Given the description of an element on the screen output the (x, y) to click on. 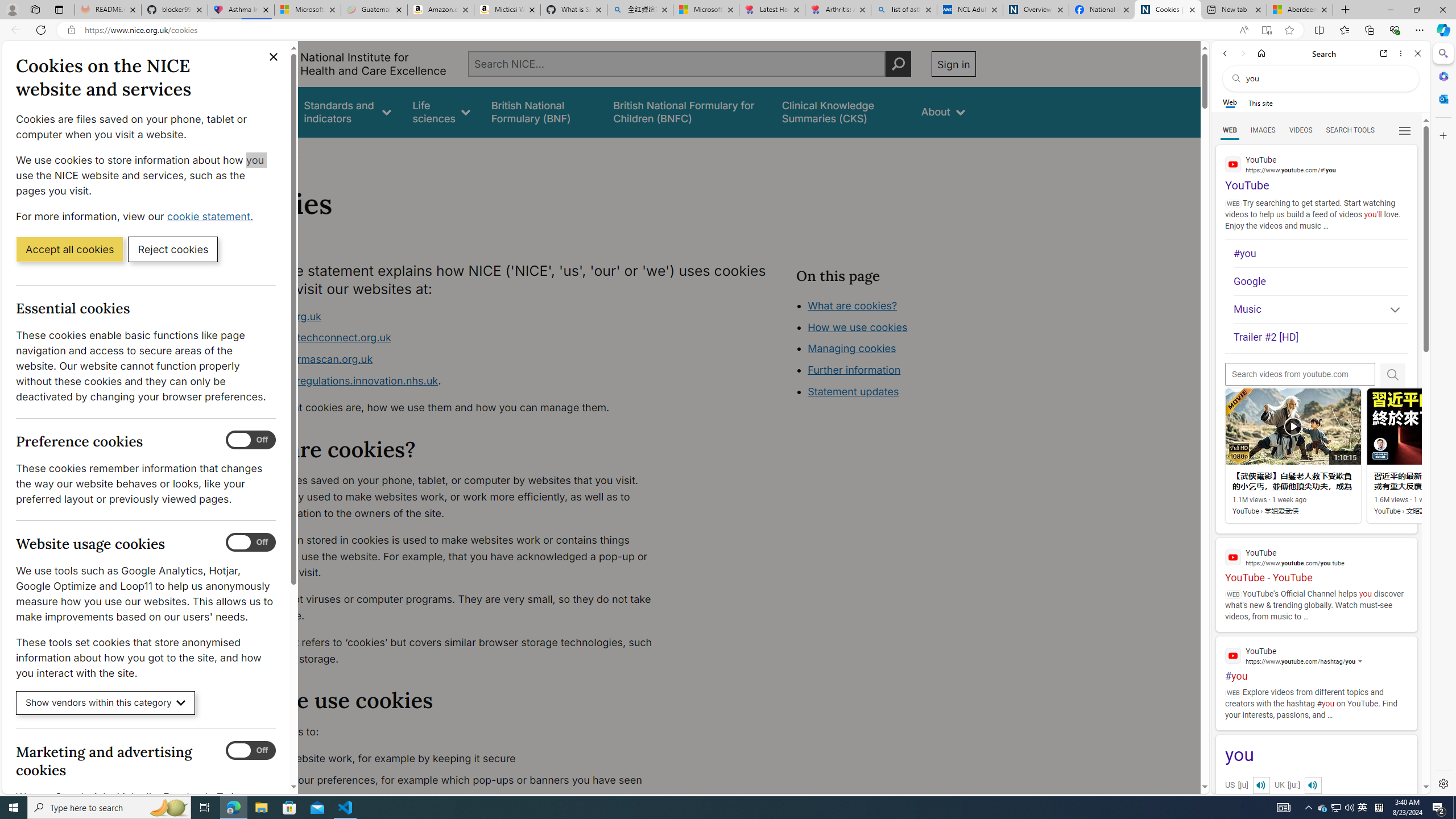
Actions for this site (1371, 661)
WEB   (1230, 130)
Trailer #2 [HD] (1320, 336)
Preferences (1403, 129)
www.digitalregulations.innovation.nhs.uk (338, 380)
Forward (1242, 53)
Music (1320, 309)
Open link in new tab (1383, 53)
British National Formulary for Children (BNFC) (686, 111)
